Given the description of an element on the screen output the (x, y) to click on. 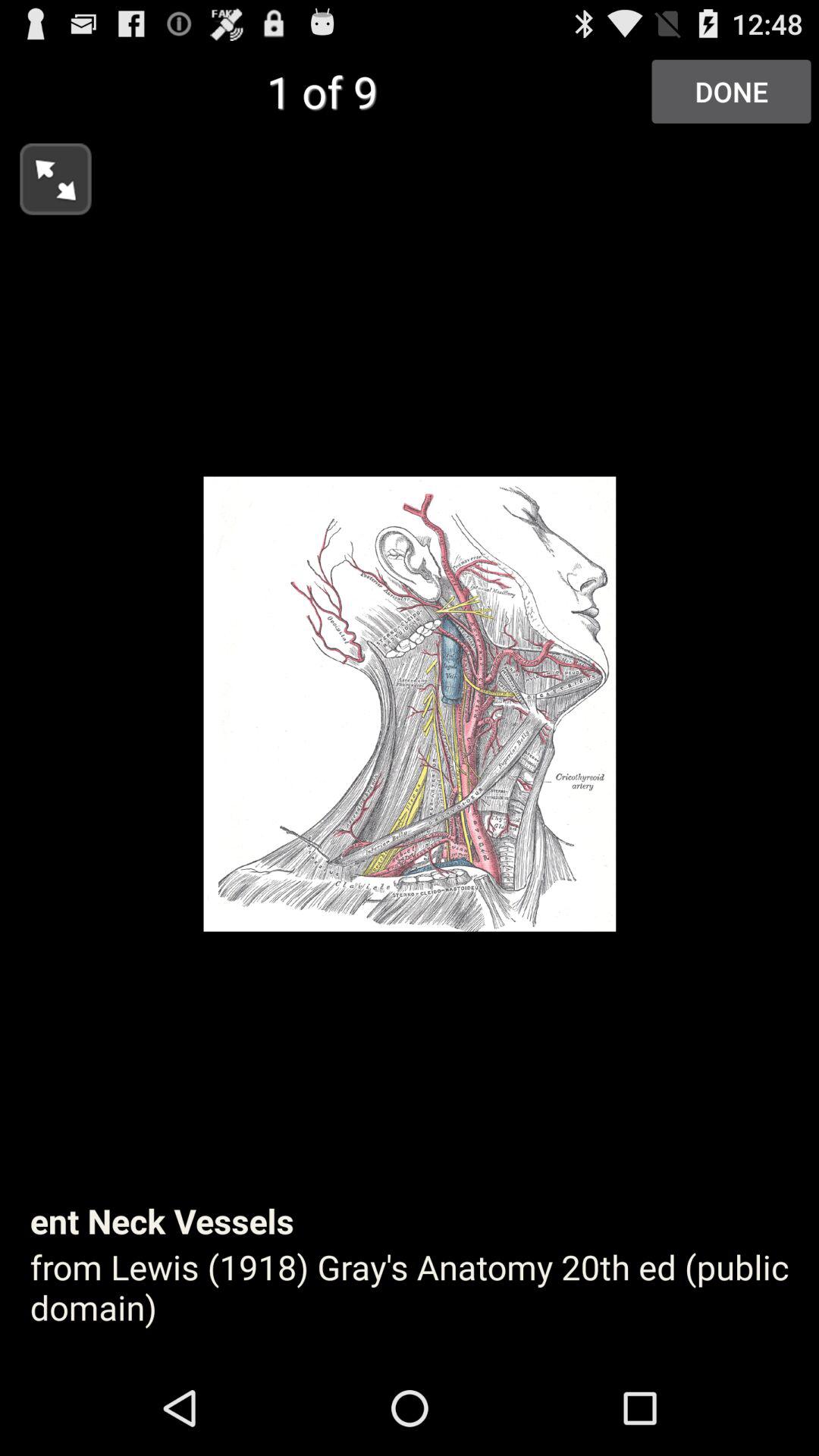
open item at the top right corner (731, 91)
